Given the description of an element on the screen output the (x, y) to click on. 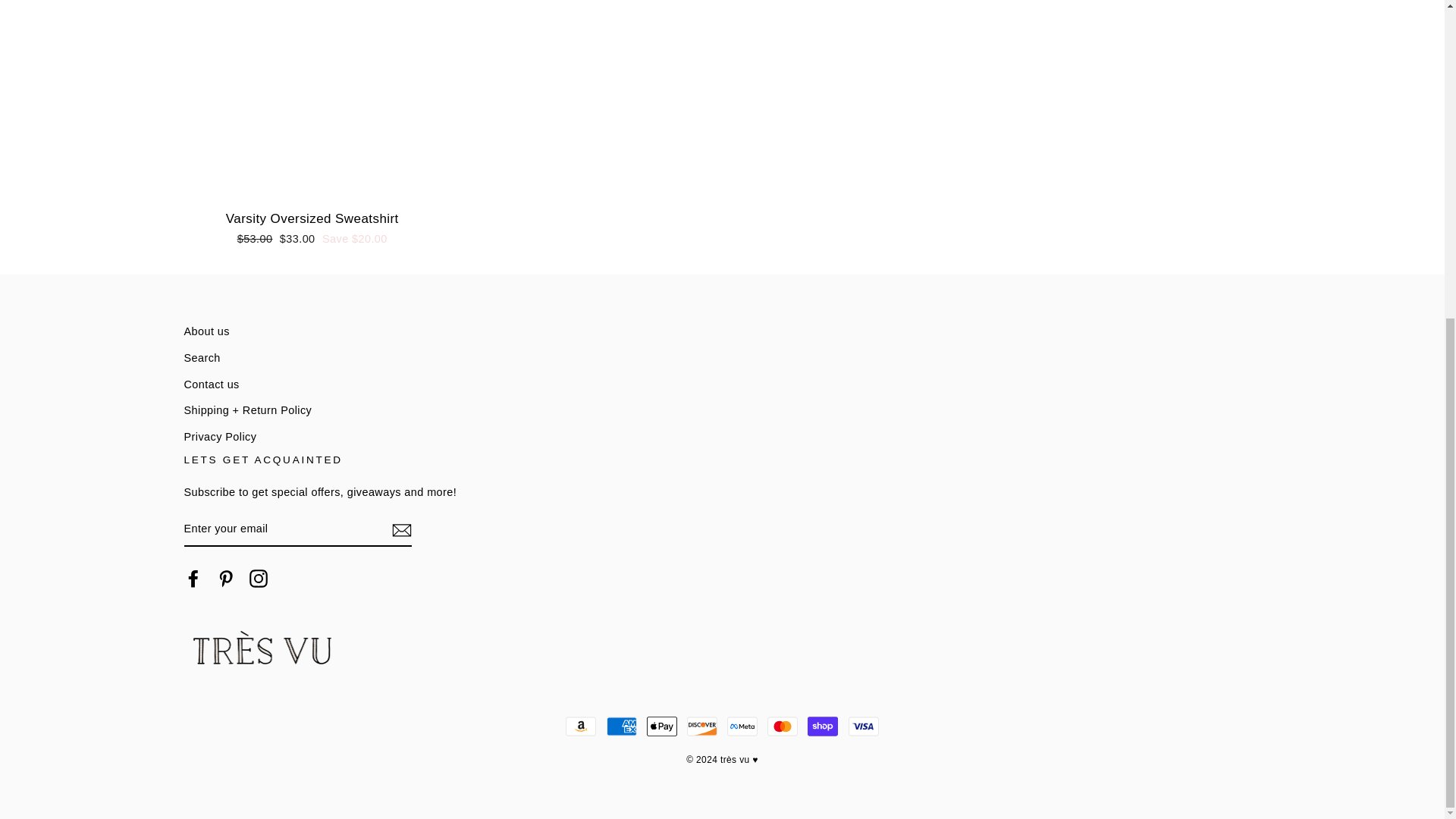
American Express (622, 726)
Meta Pay (741, 726)
Discover (702, 726)
Shop Pay (823, 726)
Apple Pay (661, 726)
Mastercard (782, 726)
Amazon (580, 726)
Visa (863, 726)
